Given the description of an element on the screen output the (x, y) to click on. 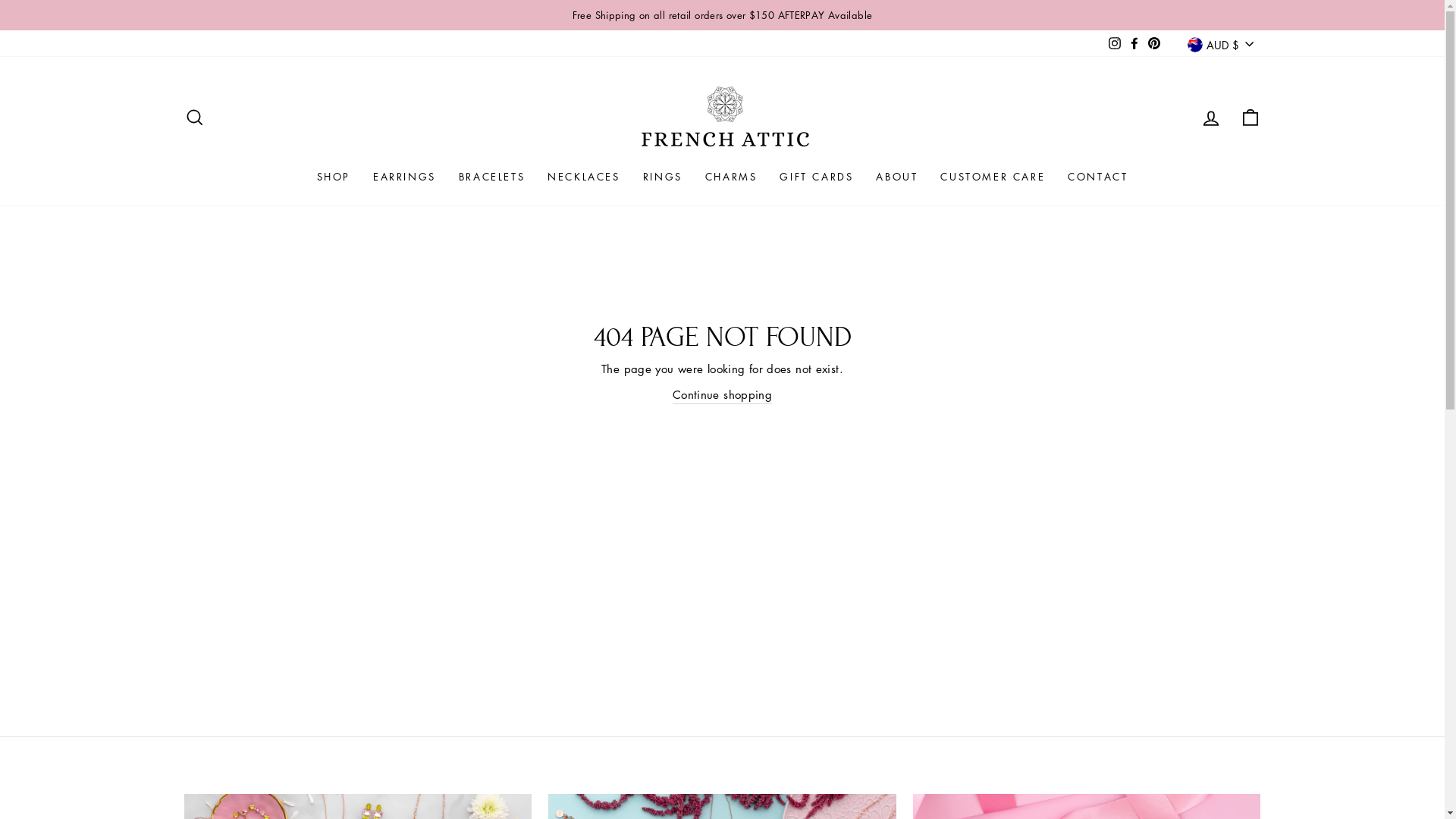
Instagram Element type: text (1114, 42)
CONTACT Element type: text (1097, 176)
CHARMS Element type: text (730, 176)
ABOUT Element type: text (896, 176)
BRACELETS Element type: text (491, 176)
NECKLACES Element type: text (583, 176)
CUSTOMER CARE Element type: text (992, 176)
RINGS Element type: text (662, 176)
SHOP Element type: text (333, 176)
LOG IN Element type: text (1210, 117)
CART Element type: text (1249, 117)
GIFT CARDS Element type: text (816, 176)
Facebook Element type: text (1134, 42)
AUD $ Element type: text (1220, 43)
Pinterest Element type: text (1154, 42)
Continue shopping Element type: text (721, 394)
EARRINGS Element type: text (404, 176)
SEARCH Element type: text (193, 117)
Skip to content Element type: text (0, 0)
